Given the description of an element on the screen output the (x, y) to click on. 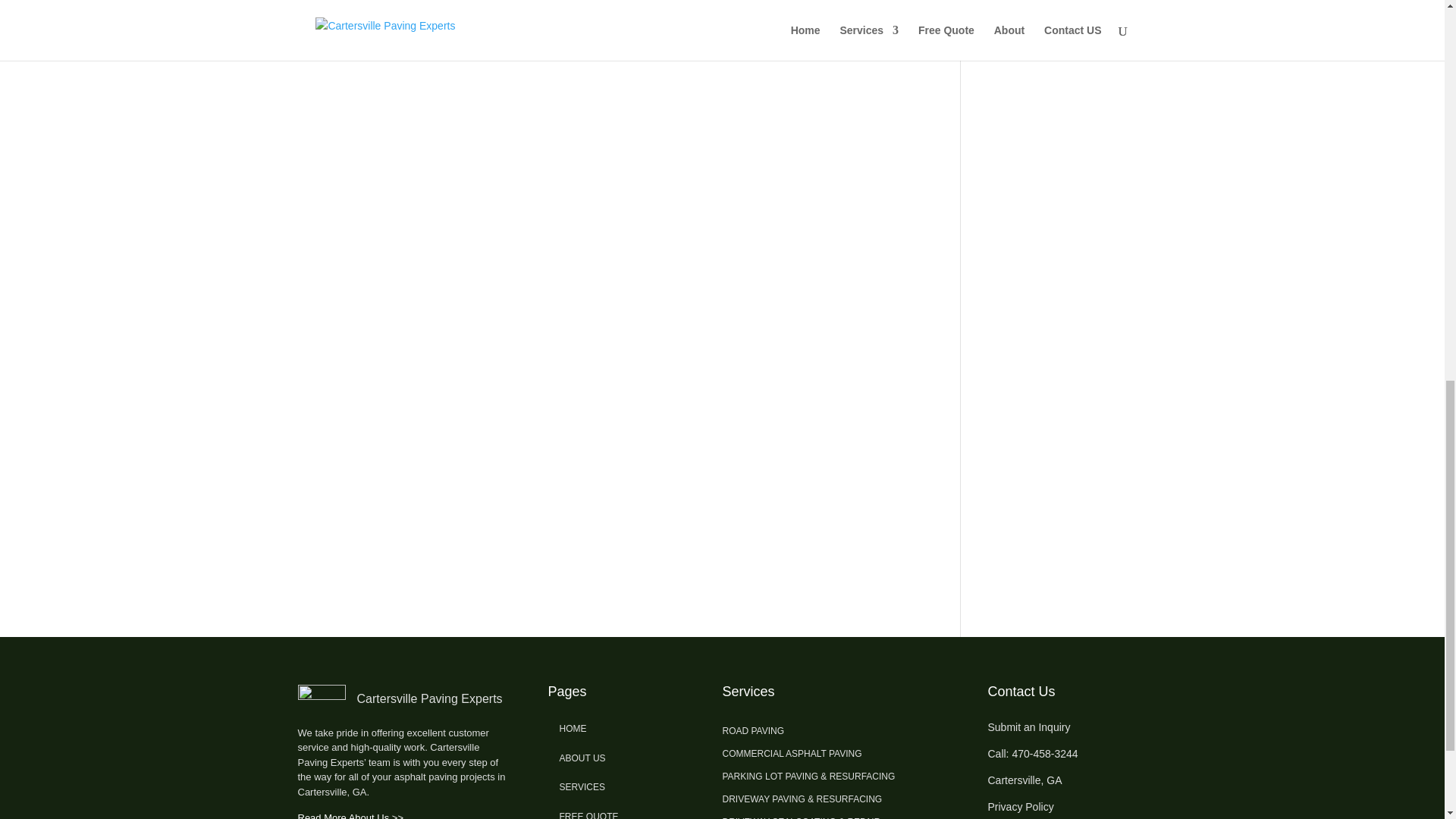
FREE QUOTE (588, 815)
Privacy Policy (1019, 806)
COMMERCIAL ASPHALT PAVING (791, 756)
ABOUT US (582, 757)
ROAD PAVING (753, 733)
Submit an Inquiry (1028, 727)
Cartersville, GA (1024, 779)
HOME (572, 728)
Call: 470-458-3244 (1032, 753)
SERVICES (582, 787)
